Given the description of an element on the screen output the (x, y) to click on. 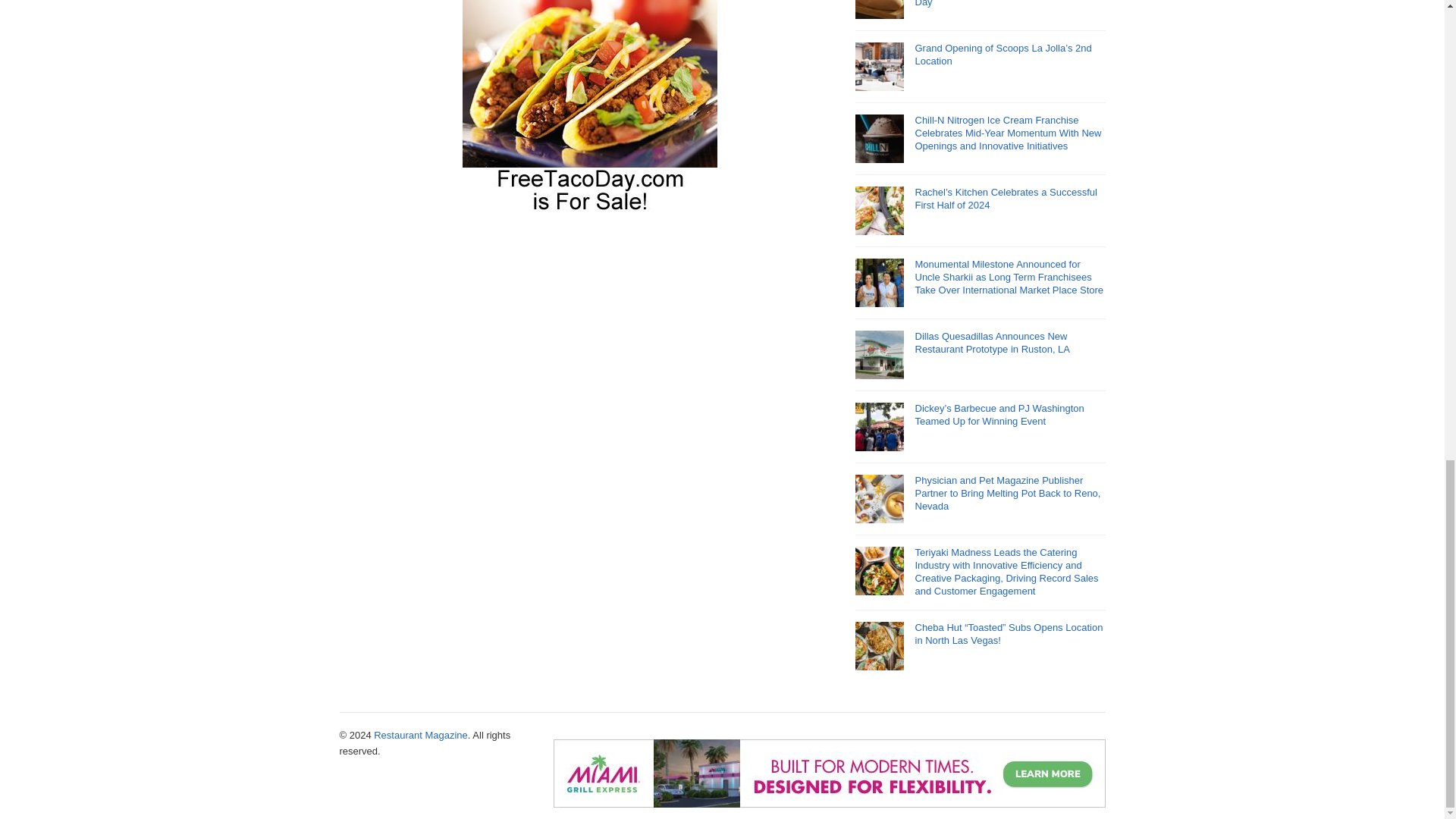
FreeTacoDay.com is For Sale (590, 207)
